Given the description of an element on the screen output the (x, y) to click on. 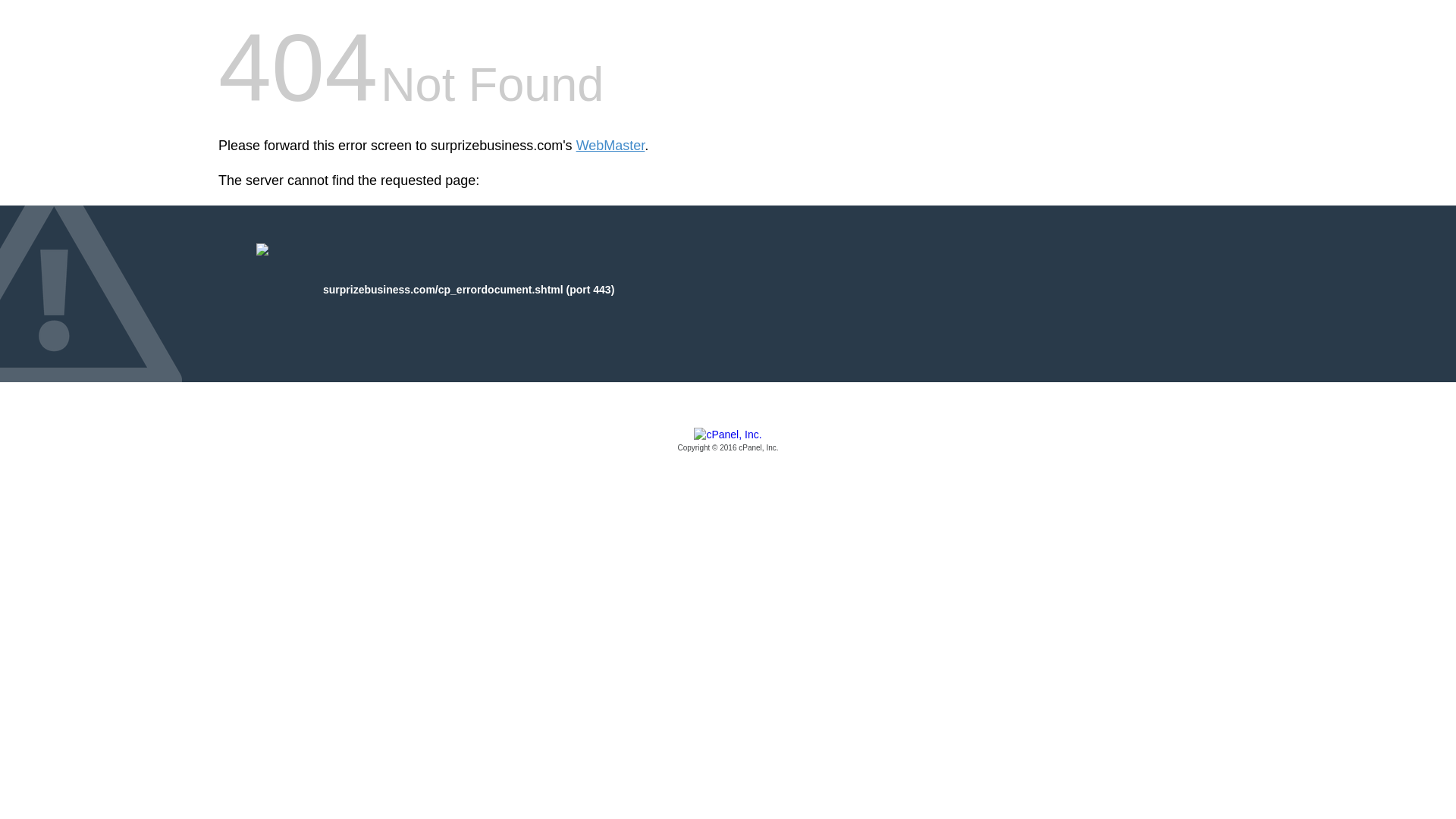
cPanel, Inc. (727, 440)
WebMaster (610, 145)
